Given the description of an element on the screen output the (x, y) to click on. 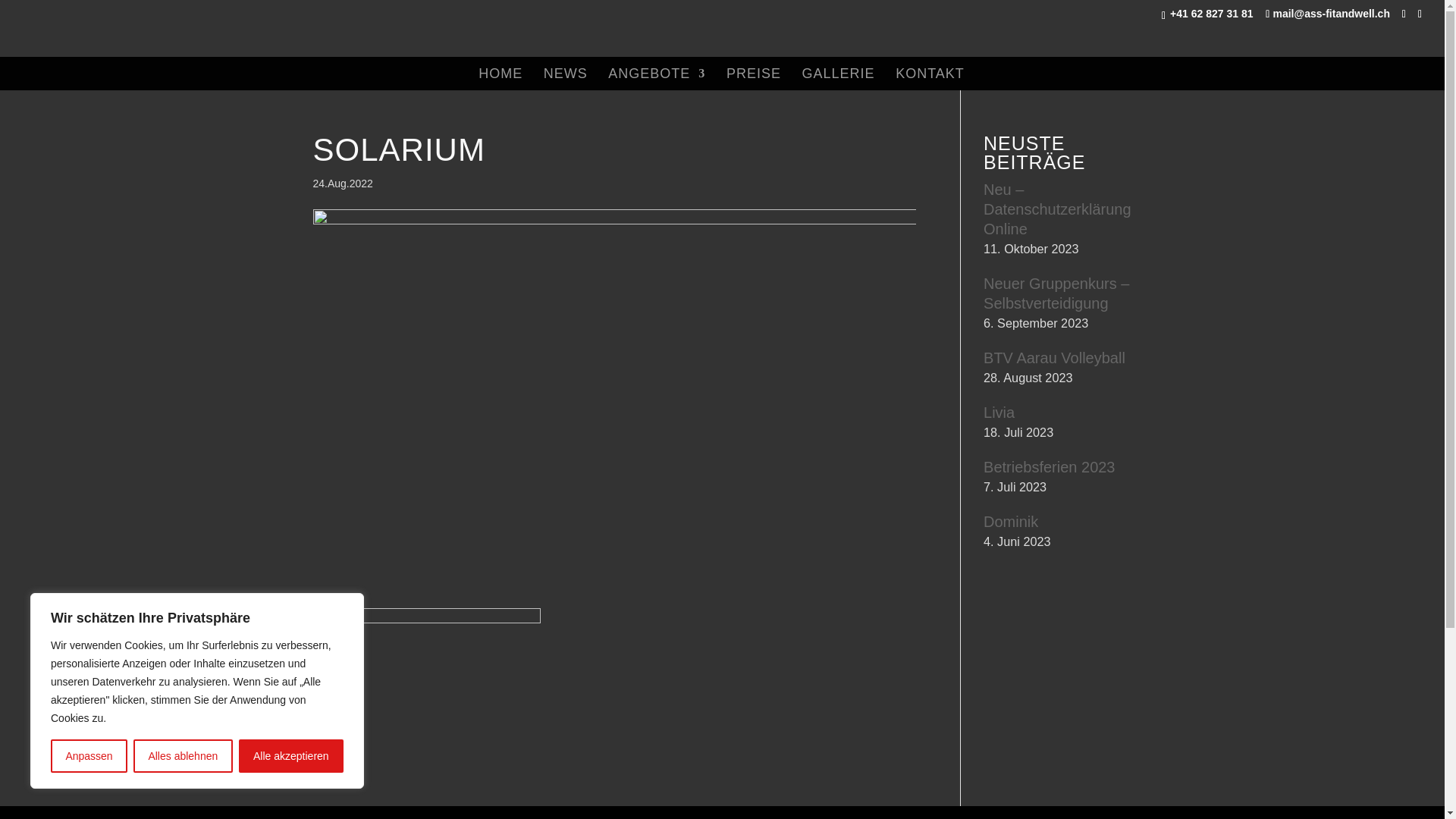
Betriebsferien 2023 Element type: text (1048, 466)
Anpassen Element type: text (88, 755)
BTV Aarau Volleyball Element type: text (1054, 356)
KONTAKT Element type: text (929, 79)
Alle akzeptieren Element type: text (290, 755)
ANGEBOTE Element type: text (656, 79)
GALLERIE Element type: text (838, 79)
mail@ass-fitandwell.ch Element type: text (1327, 13)
HOME Element type: text (500, 79)
Livia Element type: text (998, 411)
+41 62 827 31 81 Element type: text (1209, 13)
Alles ablehnen Element type: text (182, 755)
NEWS Element type: text (565, 79)
Dominik Element type: text (1010, 520)
PREISE Element type: text (753, 79)
